Given the description of an element on the screen output the (x, y) to click on. 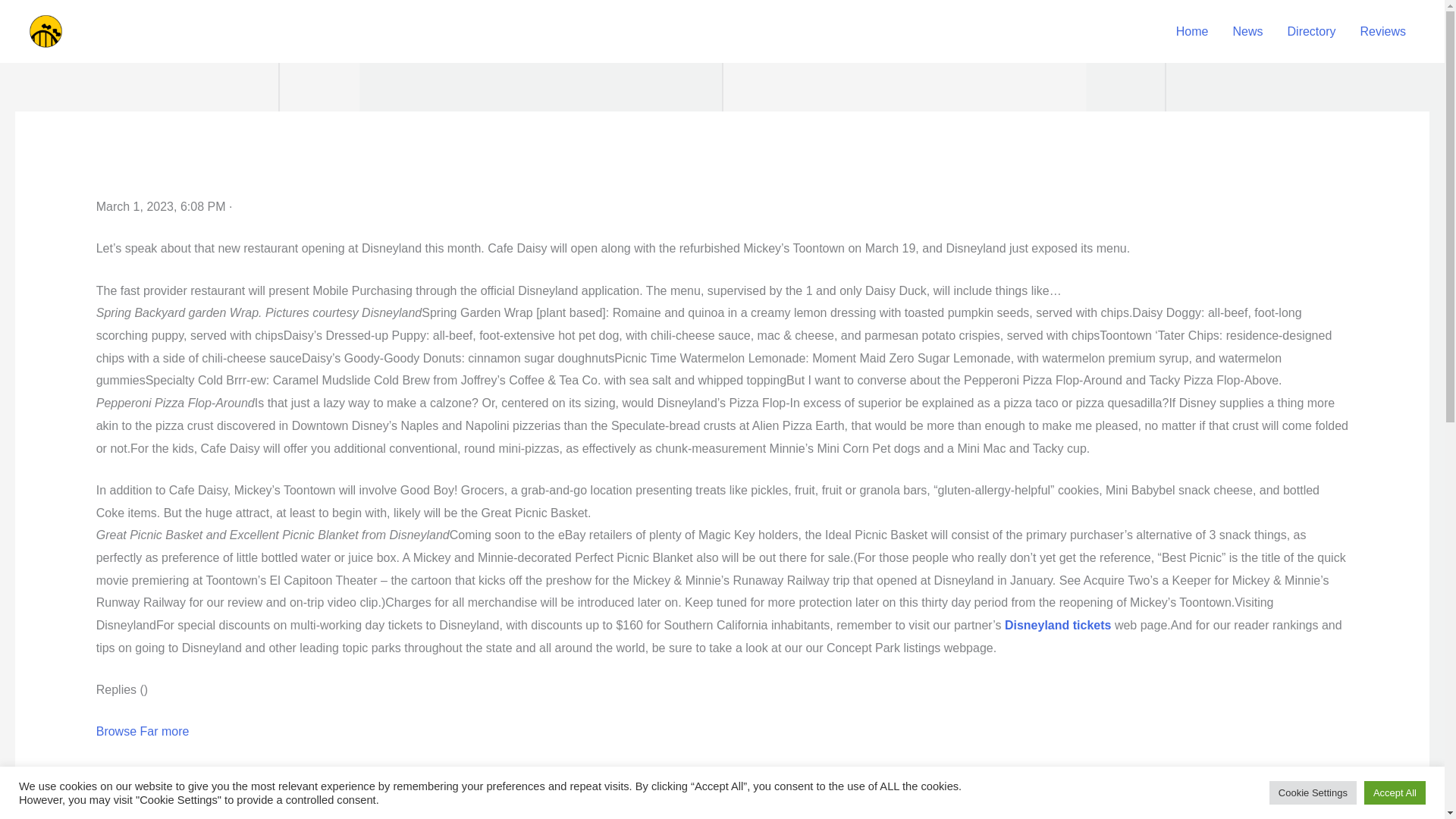
Reviews (1383, 30)
News (1248, 30)
Directory (1311, 30)
Browse Far more (142, 730)
Disneyland tickets (1058, 625)
Home (1192, 30)
Accept All (1394, 792)
Cookie Settings (1312, 792)
